Given the description of an element on the screen output the (x, y) to click on. 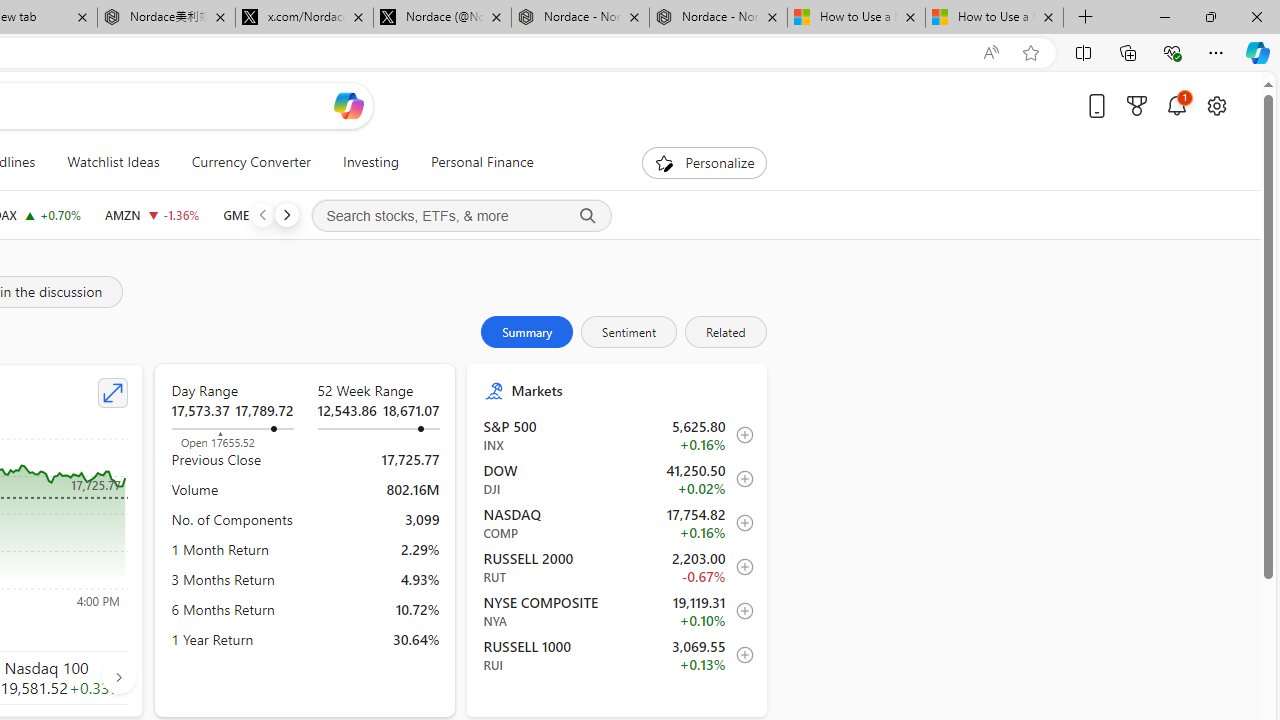
Next (286, 214)
Personal Finance (481, 162)
Currency Converter (250, 162)
COMP NASDAQ increase 17,754.82 +29.06 +0.16% itemundefined (617, 523)
How to Use a Monitor With Your Closed Laptop (994, 17)
AutomationID: finance_carousel_navi_arrow (118, 676)
Watchlist Ideas (113, 162)
DJI DOW increase 41,250.50 +9.98 +0.02% itemundefined (617, 479)
